Given the description of an element on the screen output the (x, y) to click on. 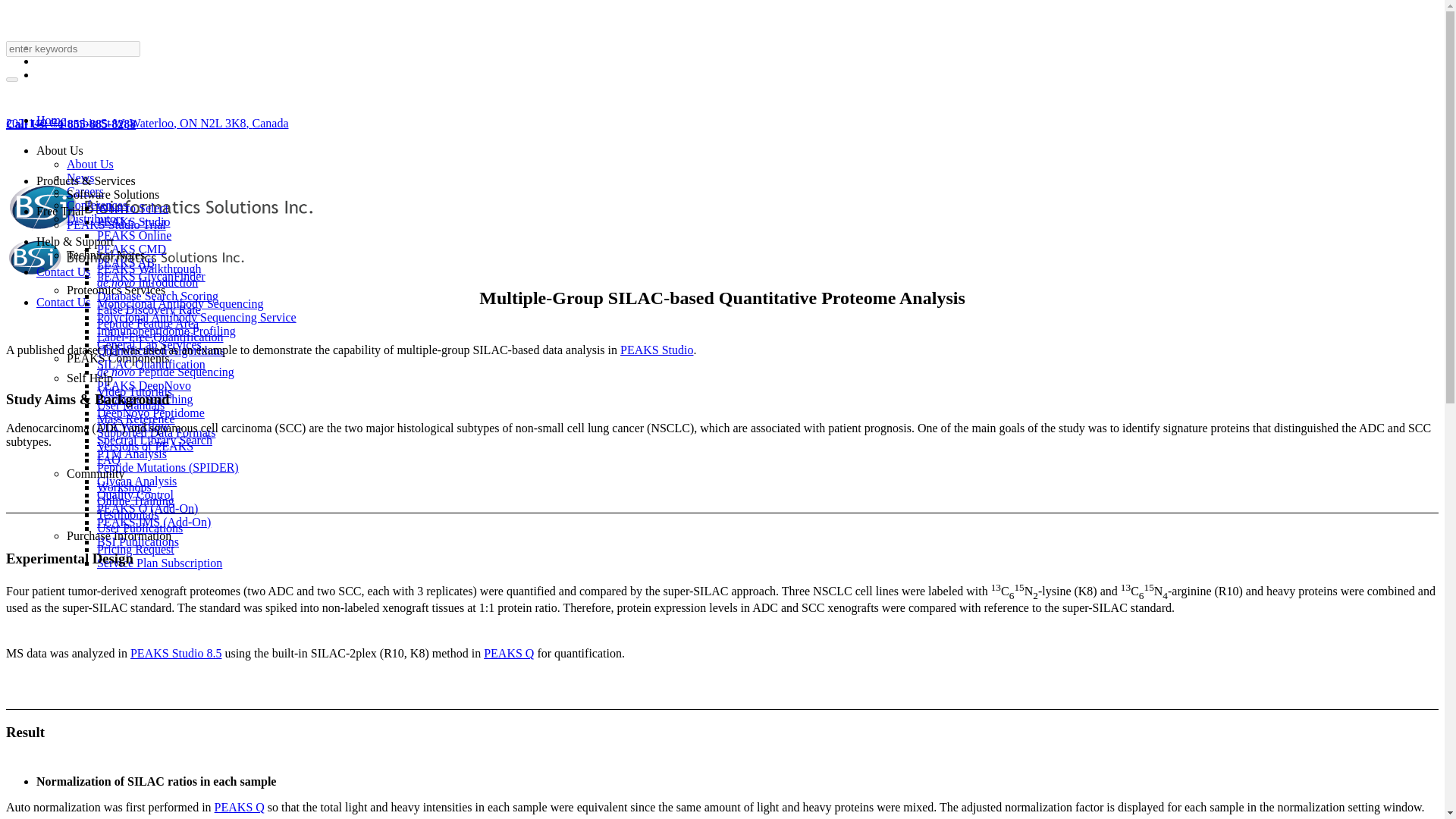
Quality Control (135, 494)
About Us (89, 164)
Polyclonal Antibody Sequencing Service (197, 317)
About Us (59, 150)
PEAKS AB (125, 262)
DeepNovo Peptidome (151, 412)
Spectral Library Search (154, 440)
Careers (84, 191)
PTM Analysis (132, 453)
PEAKS Online (134, 235)
Software Solutions (112, 194)
News (80, 177)
DIA Workflow (133, 426)
PEAKS CMD (131, 248)
Distributors (94, 218)
